Given the description of an element on the screen output the (x, y) to click on. 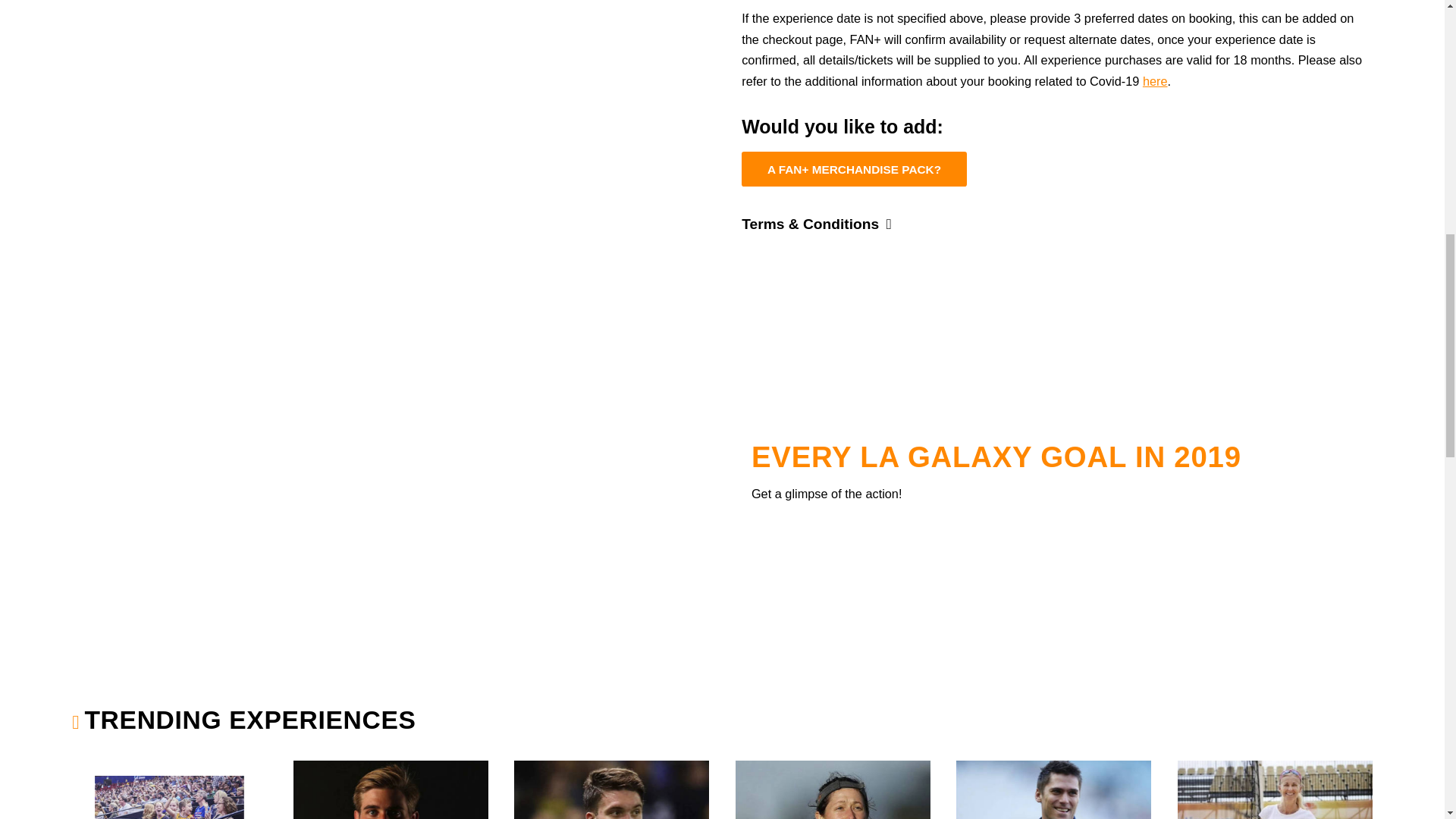
here (1154, 80)
